Given the description of an element on the screen output the (x, y) to click on. 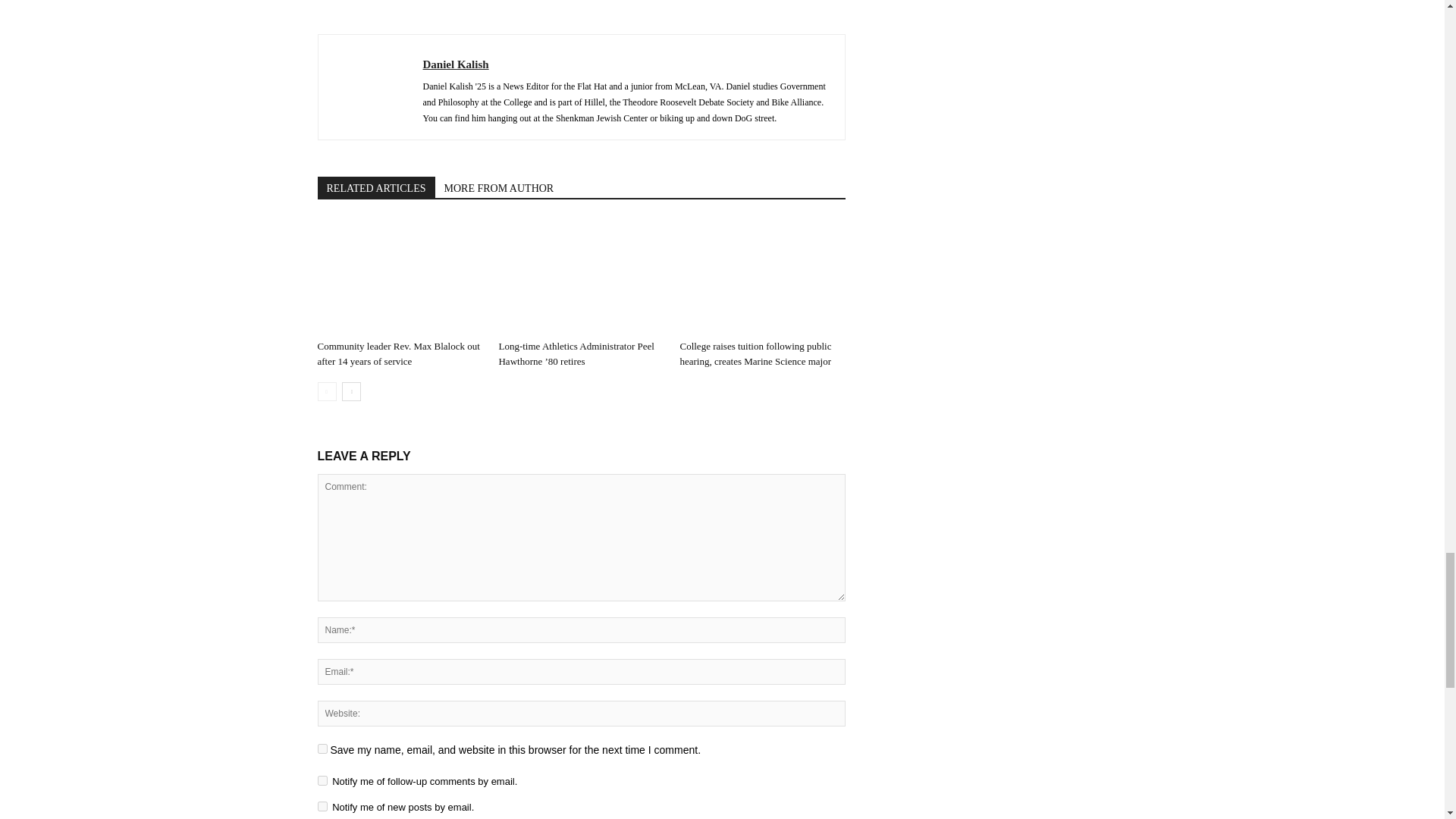
subscribe (321, 806)
subscribe (321, 780)
yes (321, 748)
